Given the description of an element on the screen output the (x, y) to click on. 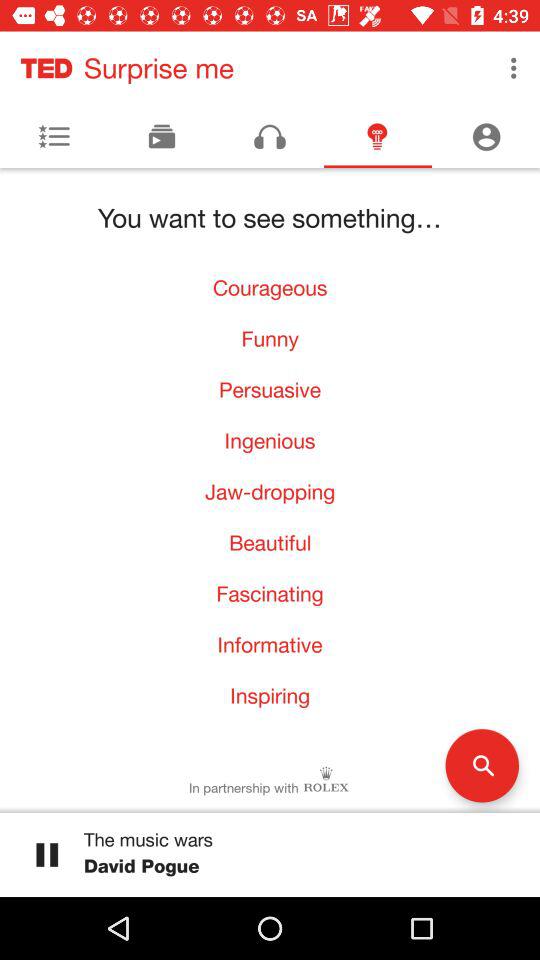
tap item below the ingenious item (270, 491)
